Given the description of an element on the screen output the (x, y) to click on. 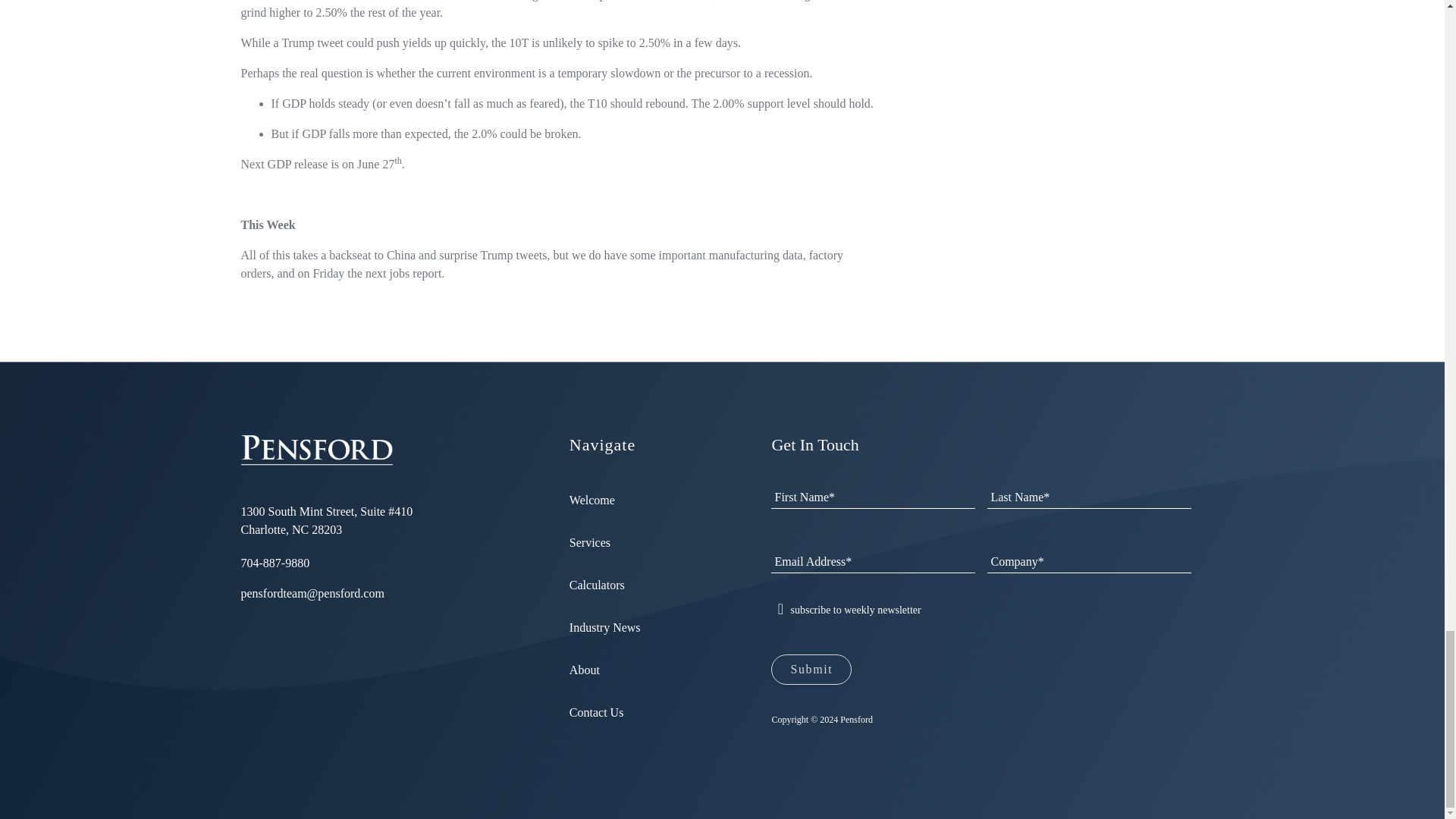
Navigate (640, 444)
About (584, 669)
Pensford (317, 450)
Services (589, 542)
704-887-9880 (275, 562)
Submit (811, 669)
Calculators (596, 584)
Welcome (591, 499)
Industry News (604, 626)
